Given the description of an element on the screen output the (x, y) to click on. 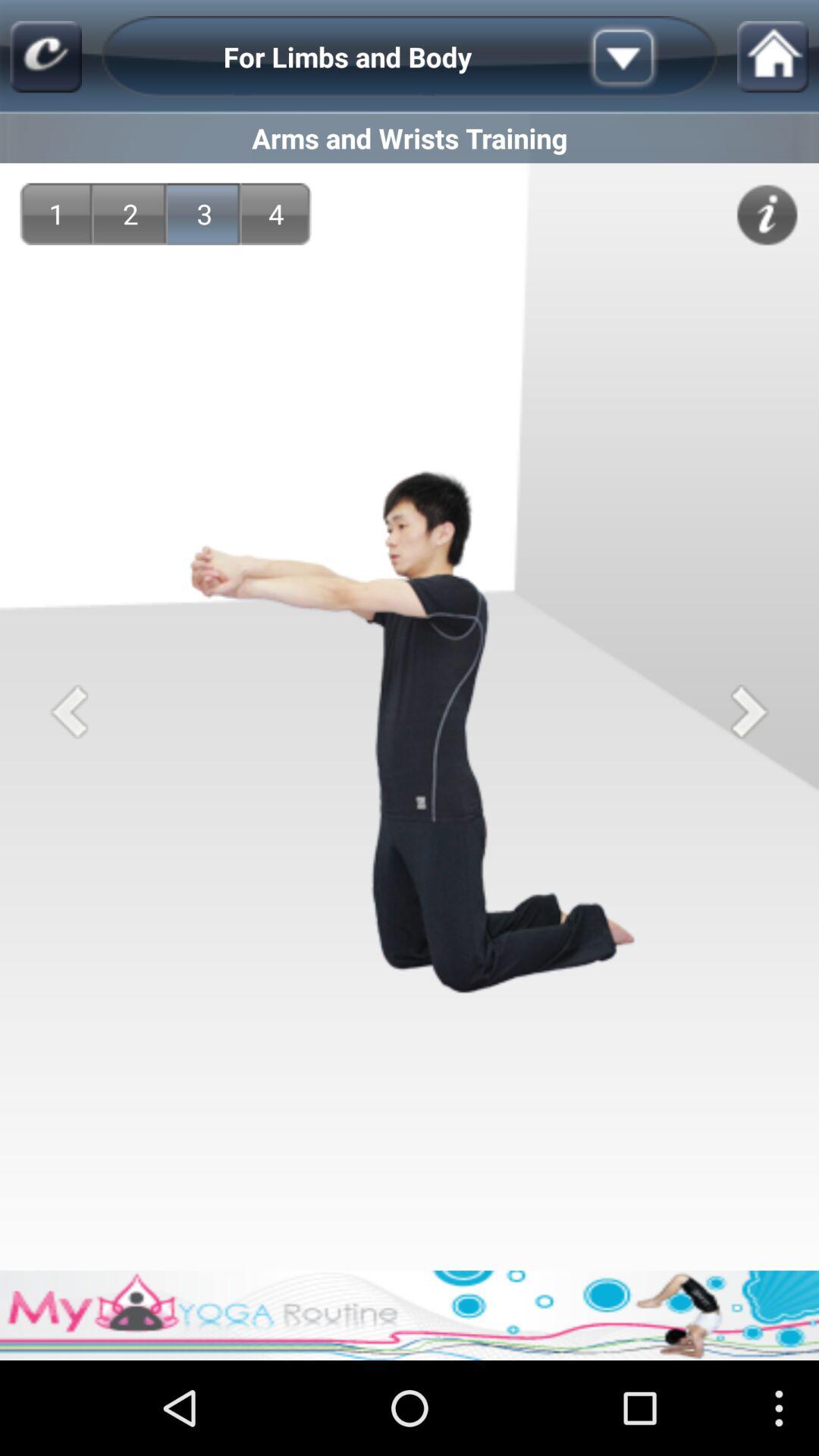
more options (646, 56)
